Given the description of an element on the screen output the (x, y) to click on. 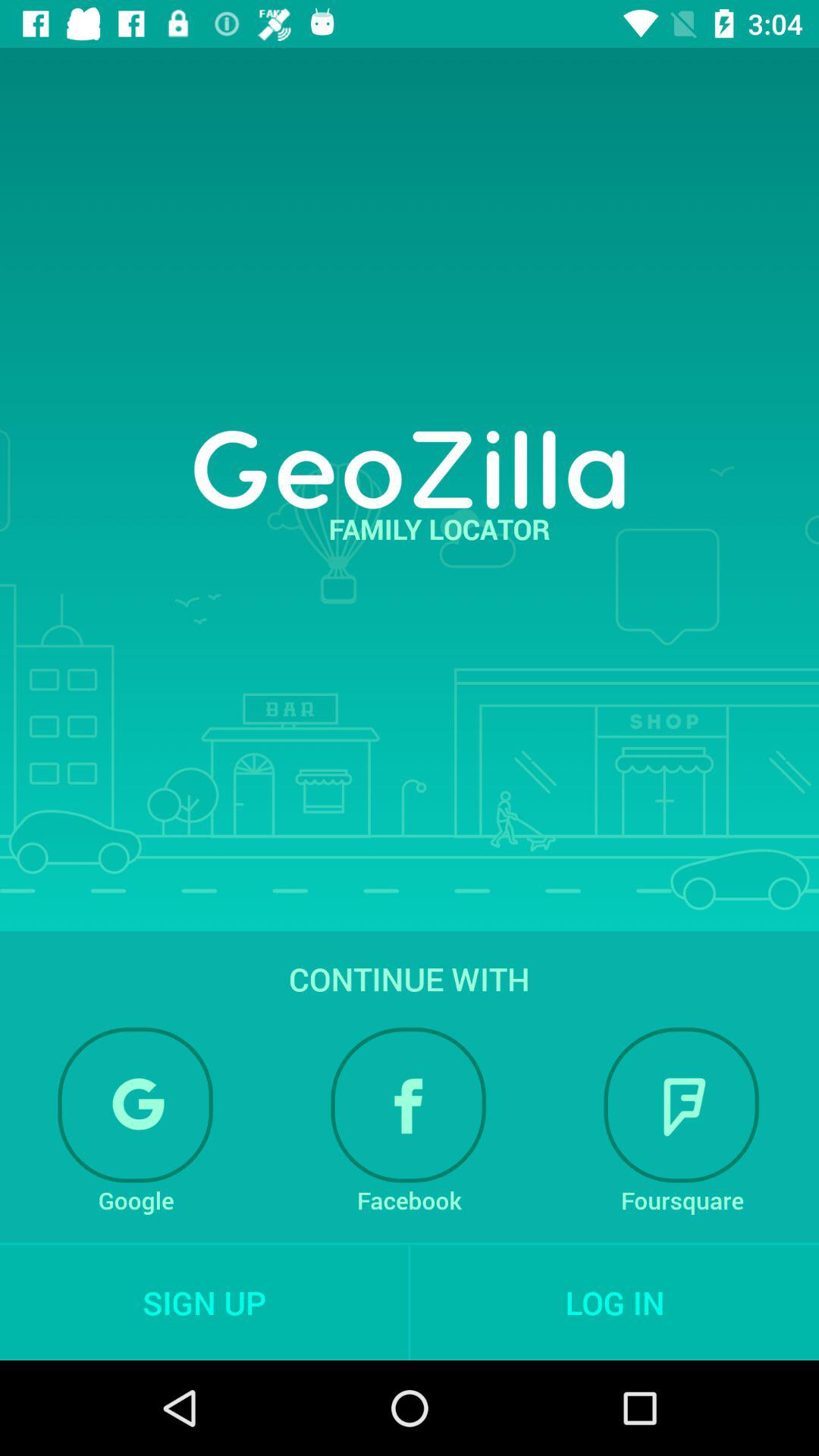
sign in through facebook option (408, 1105)
